Given the description of an element on the screen output the (x, y) to click on. 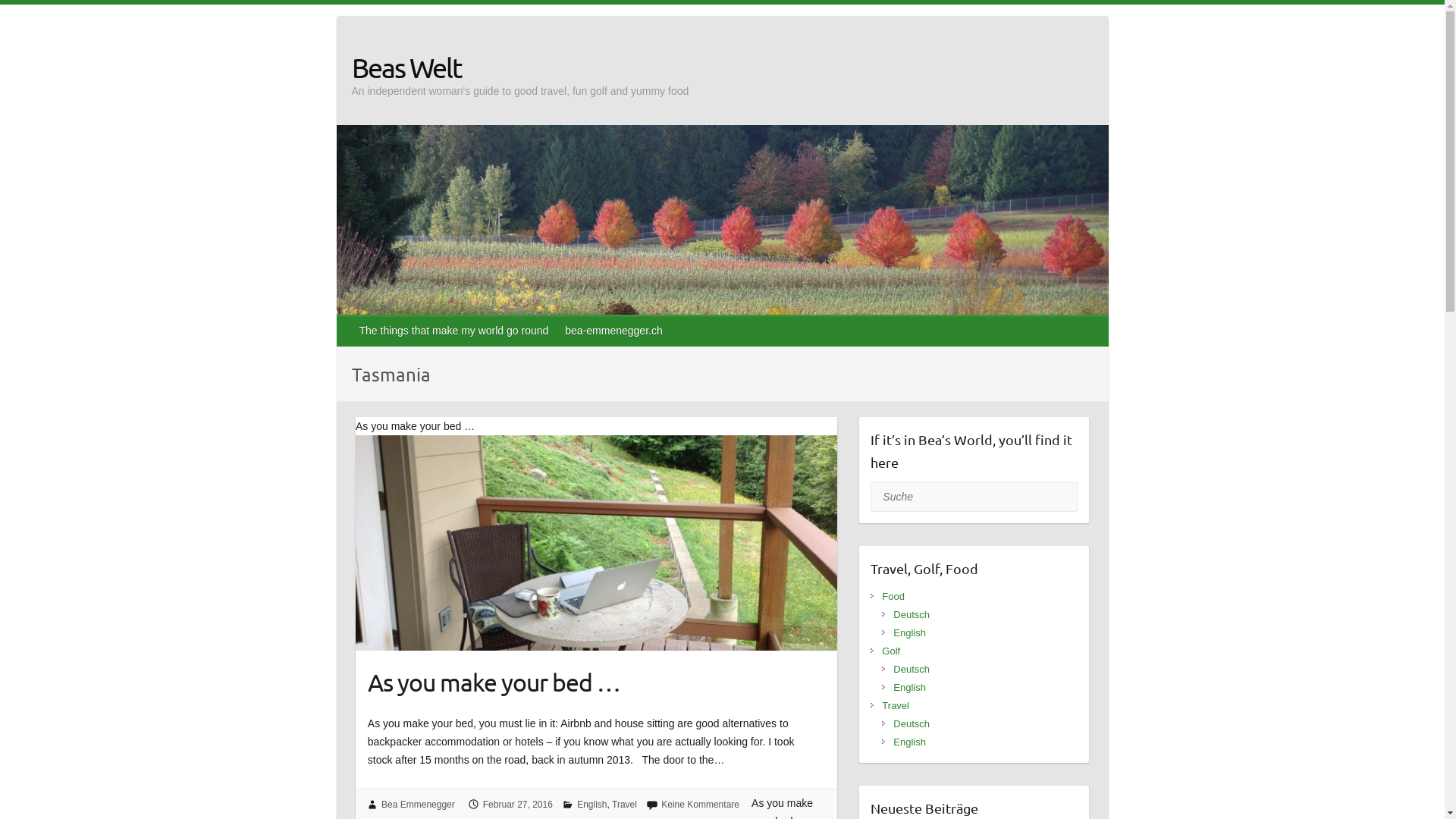
Keine Kommentare Element type: text (700, 804)
The things that make my world go round Element type: text (454, 330)
Travel Element type: text (895, 705)
English Element type: text (909, 687)
Beas Welt Element type: text (520, 67)
English Element type: text (909, 632)
English Element type: text (591, 804)
Deutsch Element type: text (911, 668)
Februar 27, 2016 Element type: text (517, 804)
Deutsch Element type: text (911, 723)
Bea Emmenegger Element type: text (418, 804)
Travel Element type: text (624, 804)
Golf Element type: text (890, 650)
Deutsch Element type: text (911, 614)
Food Element type: text (892, 596)
English Element type: text (909, 741)
bea-emmenegger.ch Element type: text (614, 330)
